Given the description of an element on the screen output the (x, y) to click on. 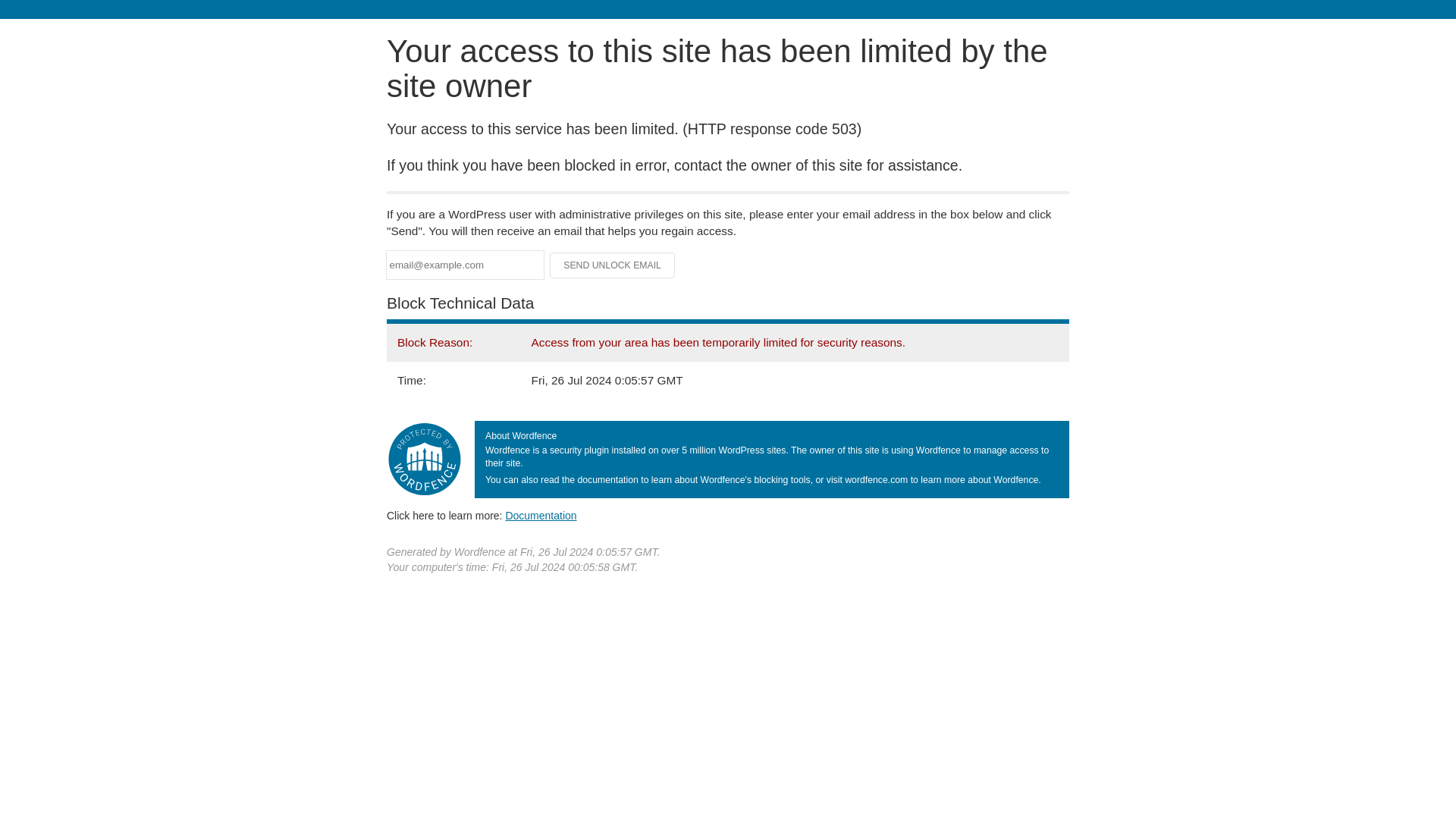
Send Unlock Email (612, 265)
Documentation (540, 515)
Send Unlock Email (612, 265)
